Given the description of an element on the screen output the (x, y) to click on. 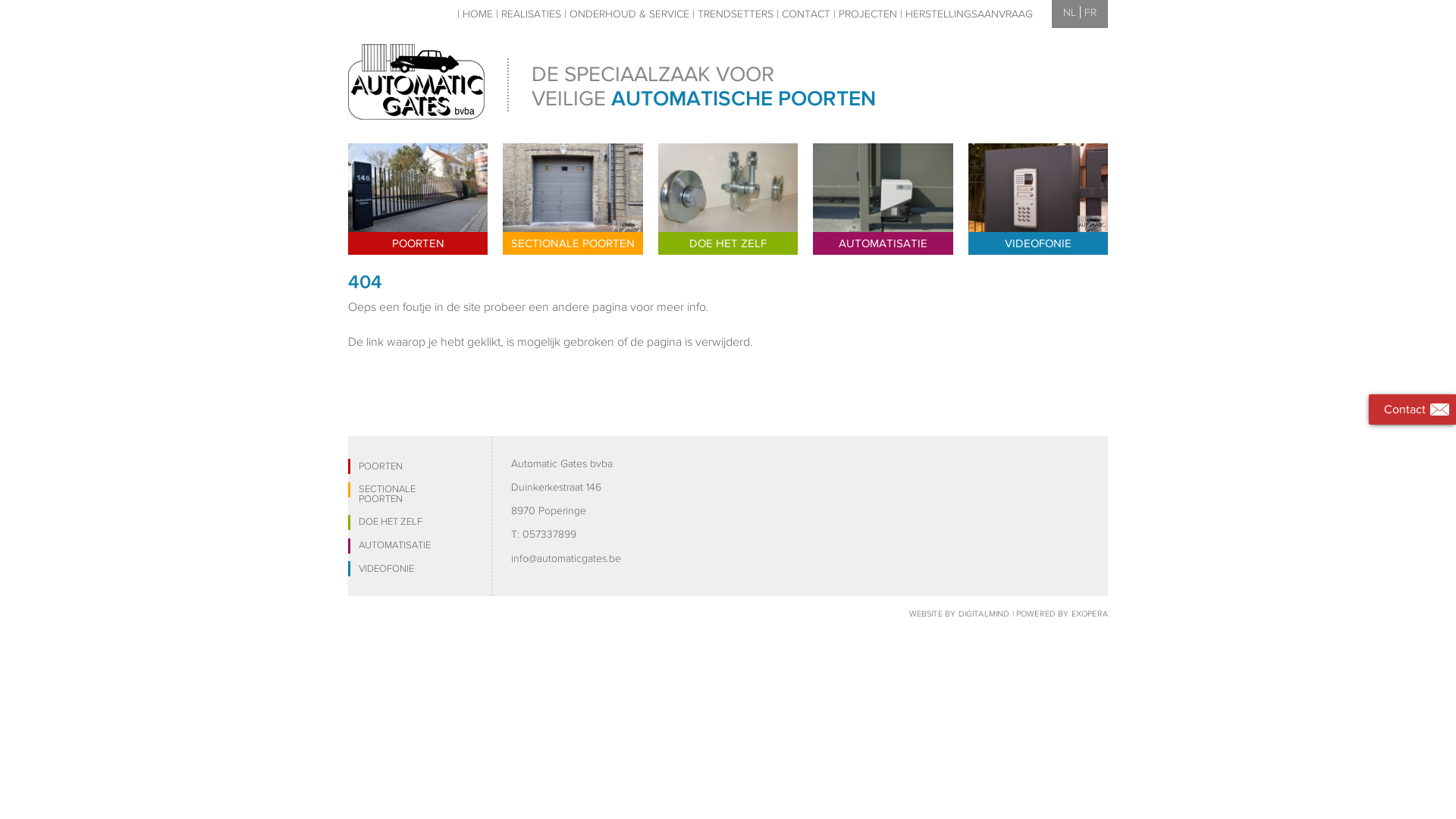
SECTIONALE POORTEN
  Element type: text (572, 198)
REALISATIES Element type: text (530, 13)
FR Element type: text (1089, 12)
Automatic Gates Element type: hover (416, 81)
DOE HET ZELF
  Element type: text (727, 198)
CONTACT Element type: text (805, 13)
NL Element type: text (1069, 12)
AUTOMATISATIE
  Element type: text (882, 198)
DIGITALMIND Element type: text (984, 613)
HOME Element type: text (477, 13)
info@automaticgates.be Element type: text (566, 558)
POORTEN
  Element type: text (417, 198)
TRENDSETTERS Element type: text (735, 13)
EXOPERA Element type: text (1089, 613)
VIDEOFONIE
  Element type: text (1037, 198)
HERSTELLINGSAANVRAAG Element type: text (968, 13)
ONDERHOUD & SERVICE Element type: text (628, 13)
PROJECTEN Element type: text (867, 13)
